Given the description of an element on the screen output the (x, y) to click on. 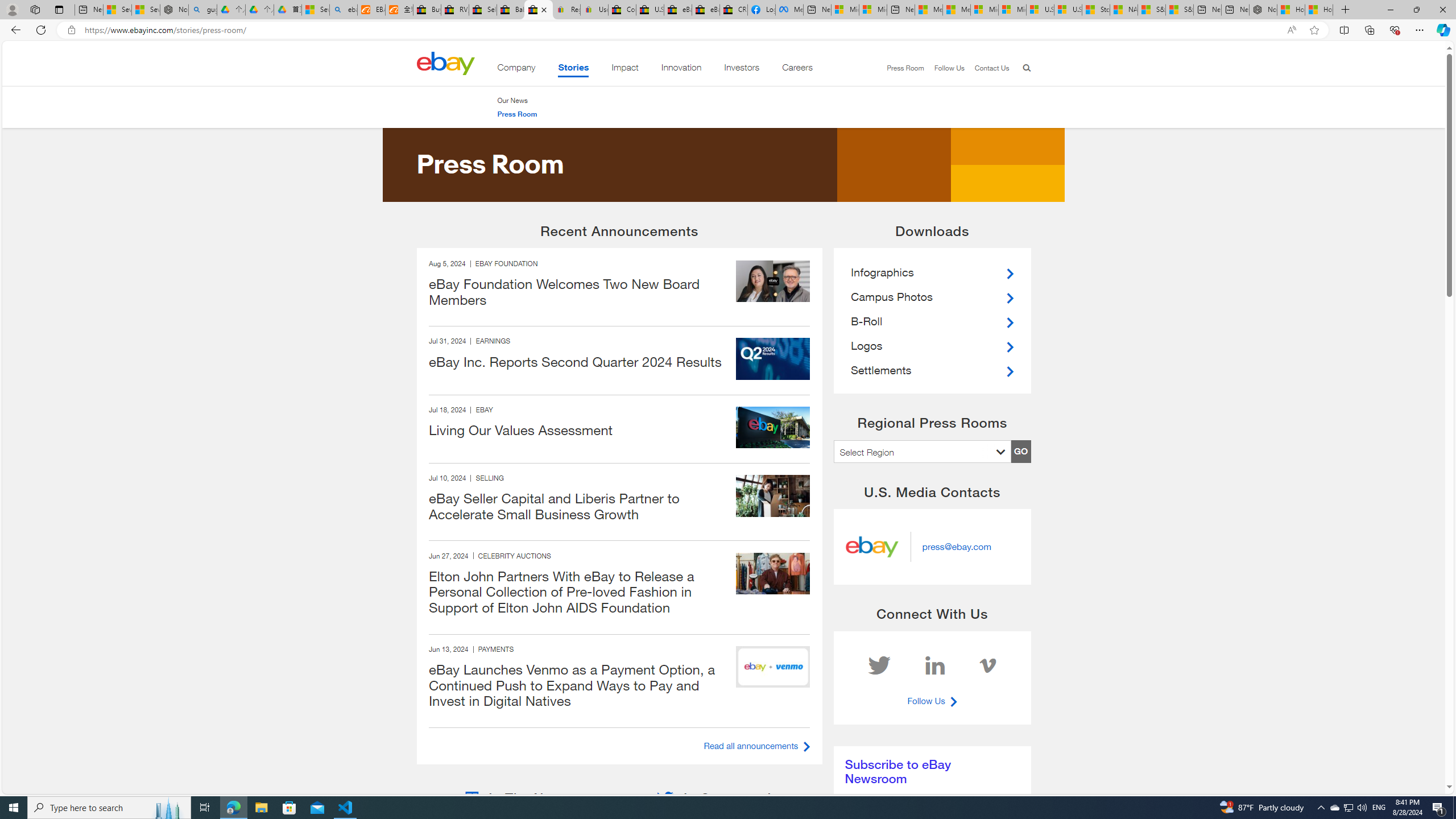
Our News (516, 100)
App bar (728, 29)
Press Room (516, 113)
240725 BoardMembers announcement v1 inc 1600x900 image B1 (772, 280)
ebay hq inc20 (772, 427)
Class: desktop (445, 63)
Home (445, 63)
Investors (741, 69)
GO (1020, 450)
1365520856 (772, 495)
Copilot (Ctrl+Shift+.) (1442, 29)
